Given the description of an element on the screen output the (x, y) to click on. 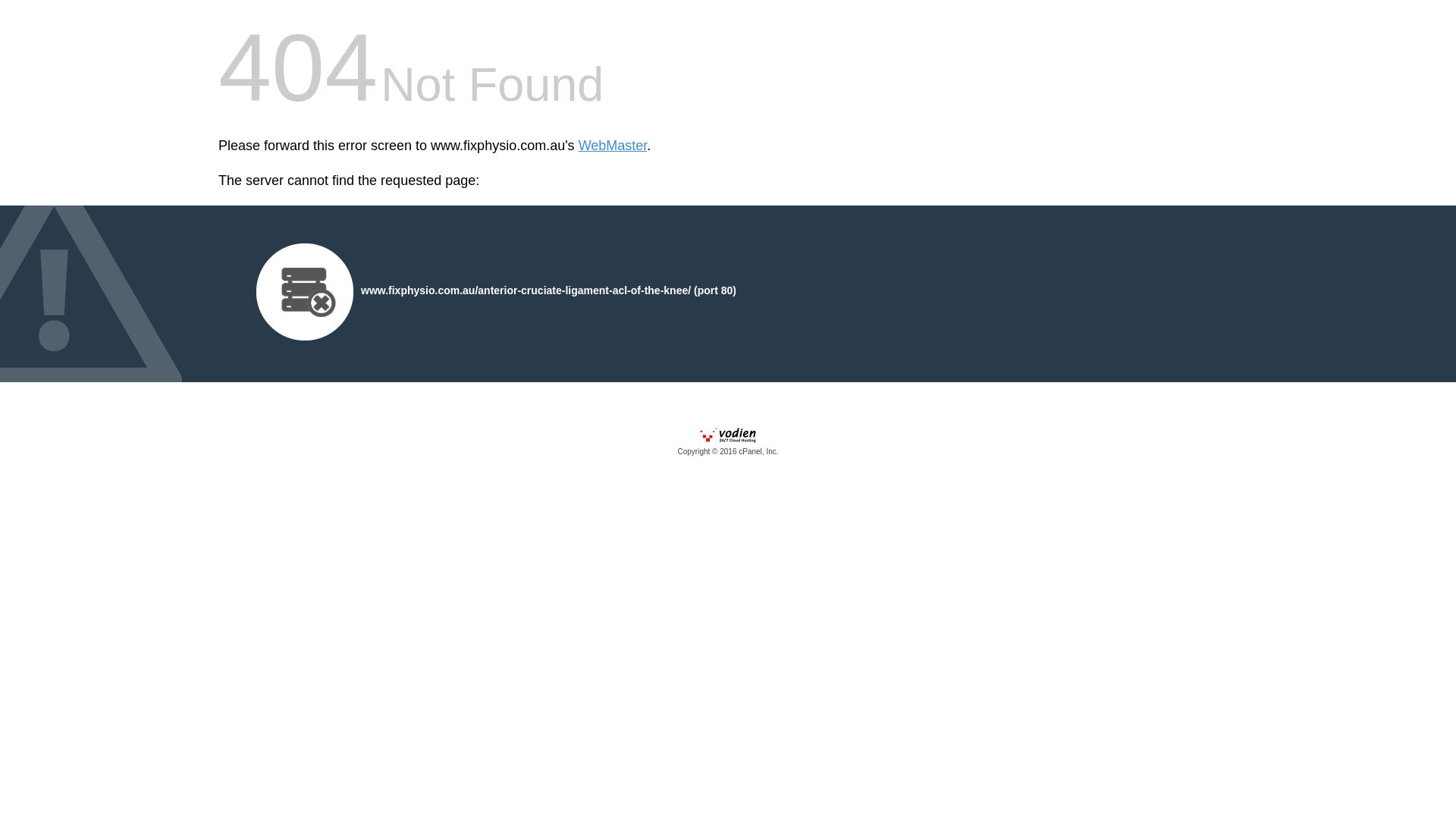
WebMaster Element type: text (612, 145)
